Given the description of an element on the screen output the (x, y) to click on. 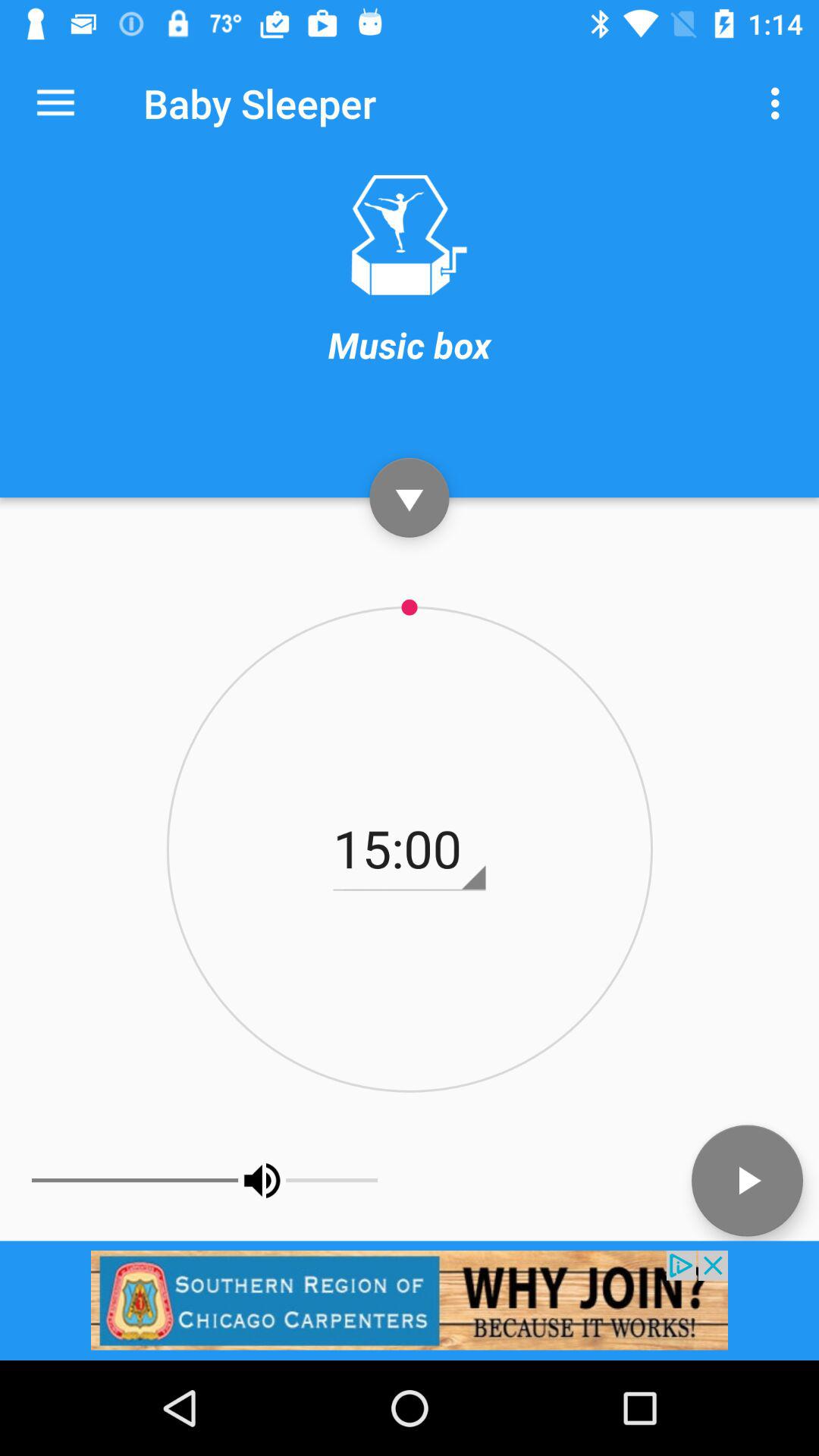
advertisement (409, 1300)
